Given the description of an element on the screen output the (x, y) to click on. 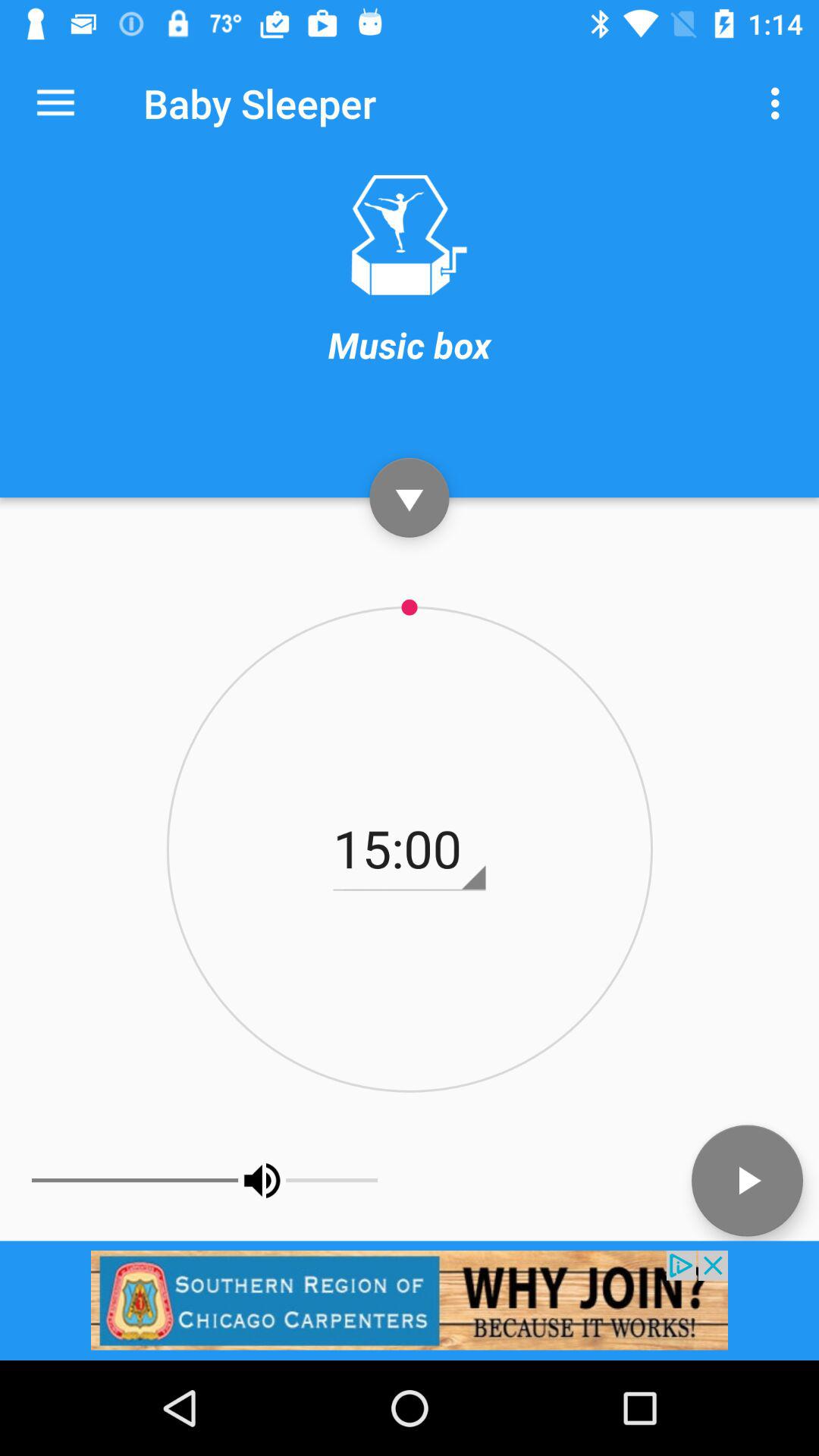
advertisement (409, 1300)
